Given the description of an element on the screen output the (x, y) to click on. 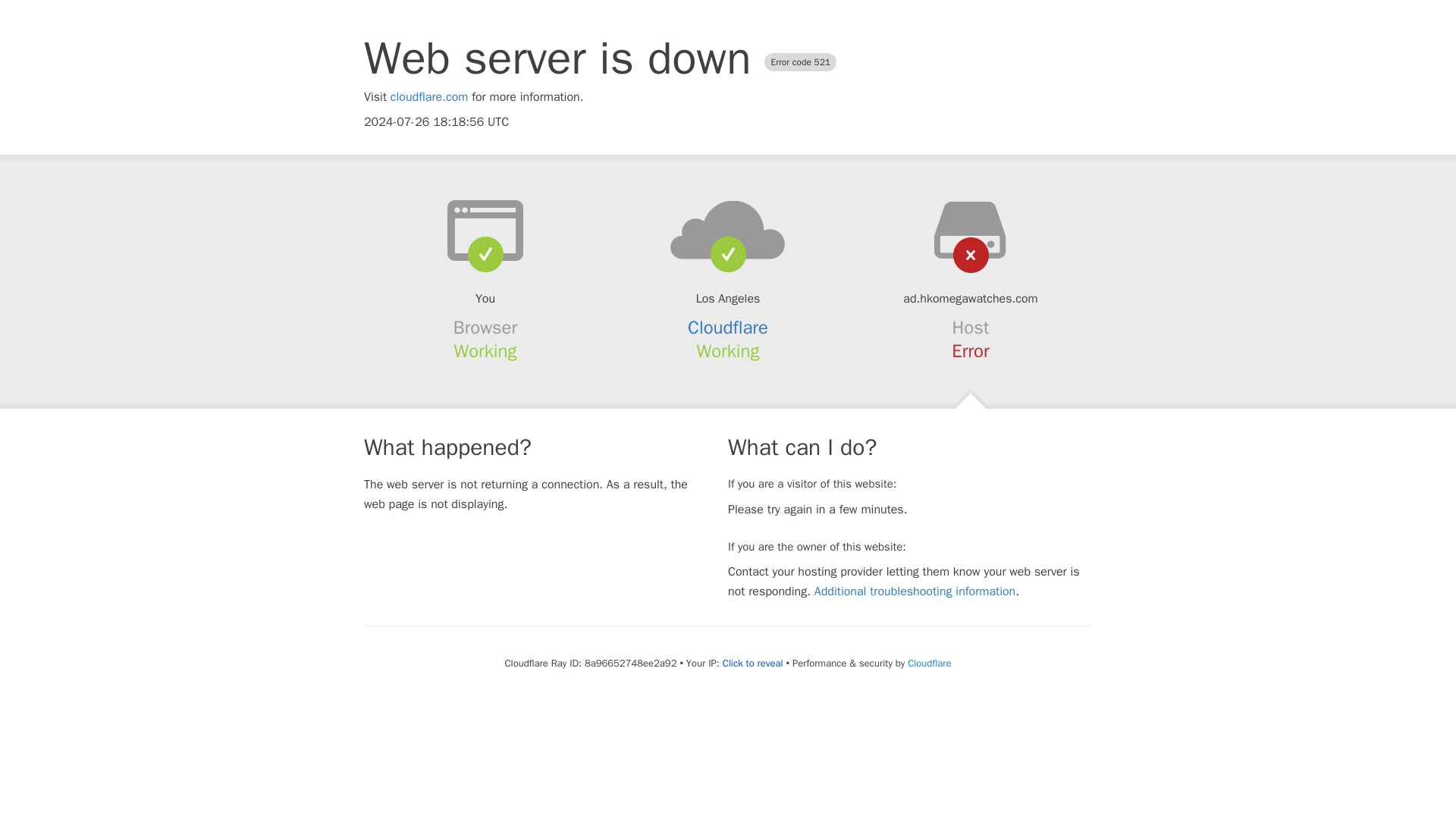
Click to reveal (752, 663)
Cloudflare (727, 327)
cloudflare.com (429, 96)
Additional troubleshooting information (913, 590)
Cloudflare (928, 662)
